Given the description of an element on the screen output the (x, y) to click on. 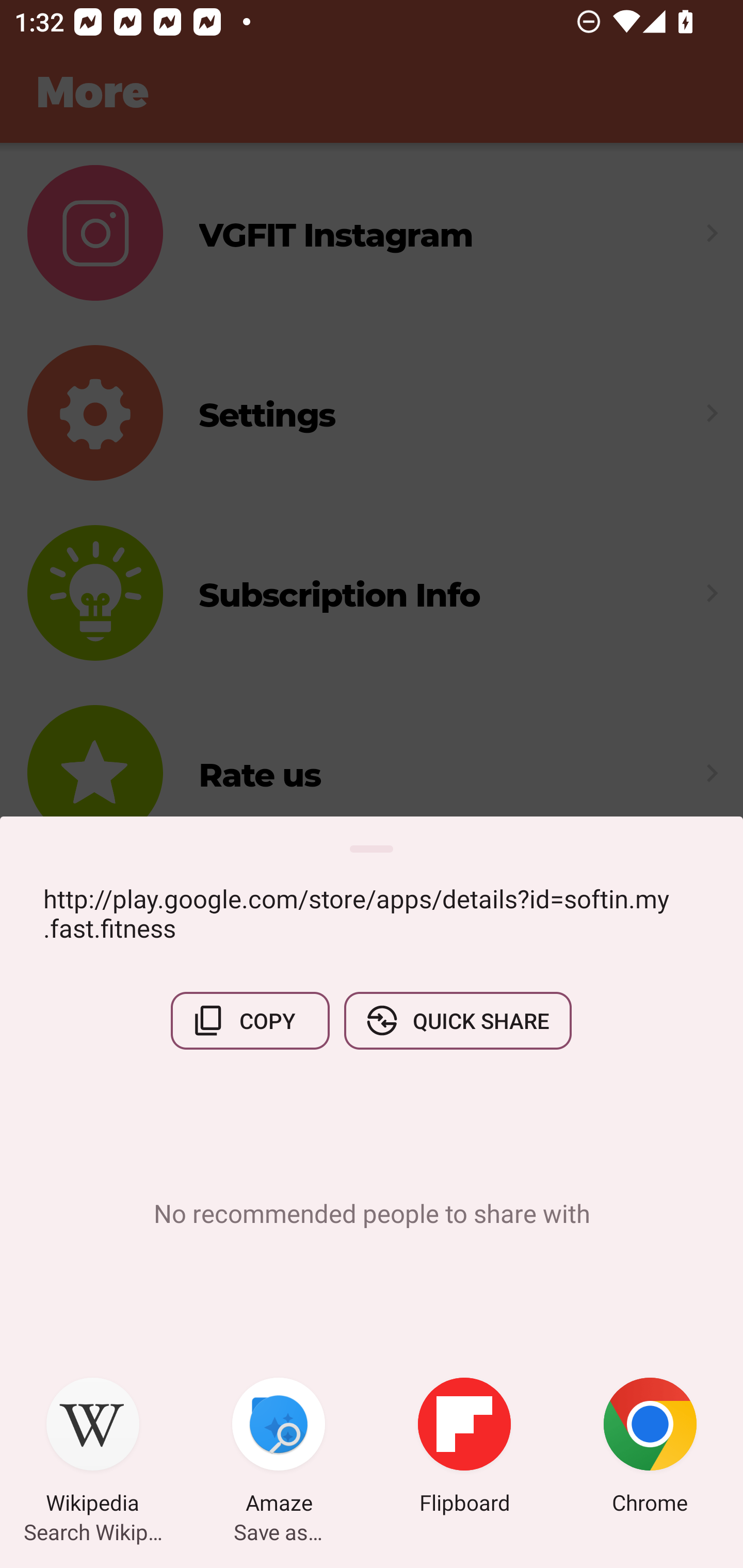
COPY (249, 1020)
QUICK SHARE (457, 1020)
Wikipedia Search Wikipedia (92, 1448)
Amaze Save as… (278, 1448)
Flipboard (464, 1448)
Chrome (650, 1448)
